Given the description of an element on the screen output the (x, y) to click on. 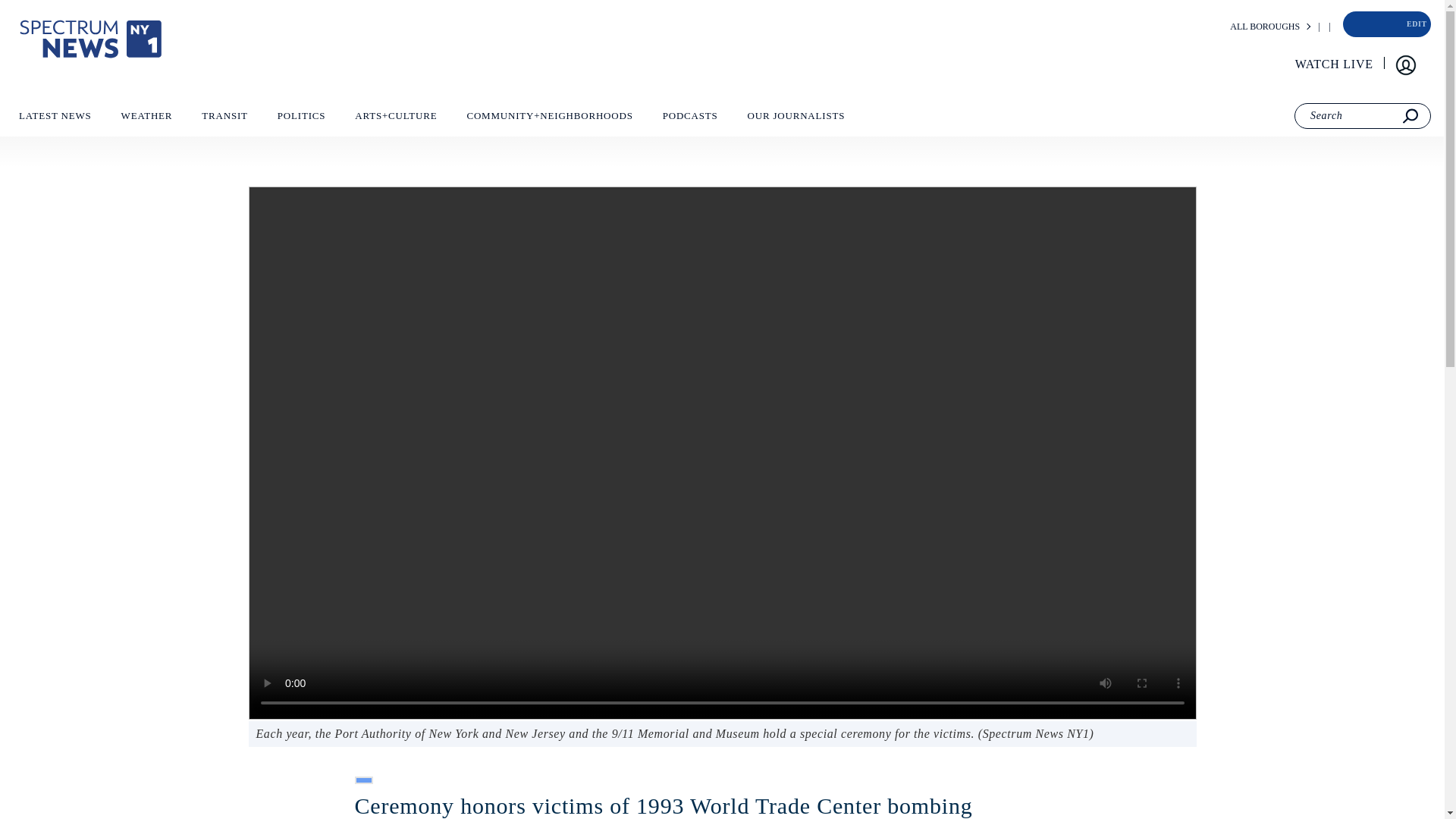
EDIT (1415, 23)
WATCH LIVE (1334, 64)
ALL BOROUGHS (1265, 26)
WEATHER (146, 119)
LATEST NEWS (55, 119)
